Given the description of an element on the screen output the (x, y) to click on. 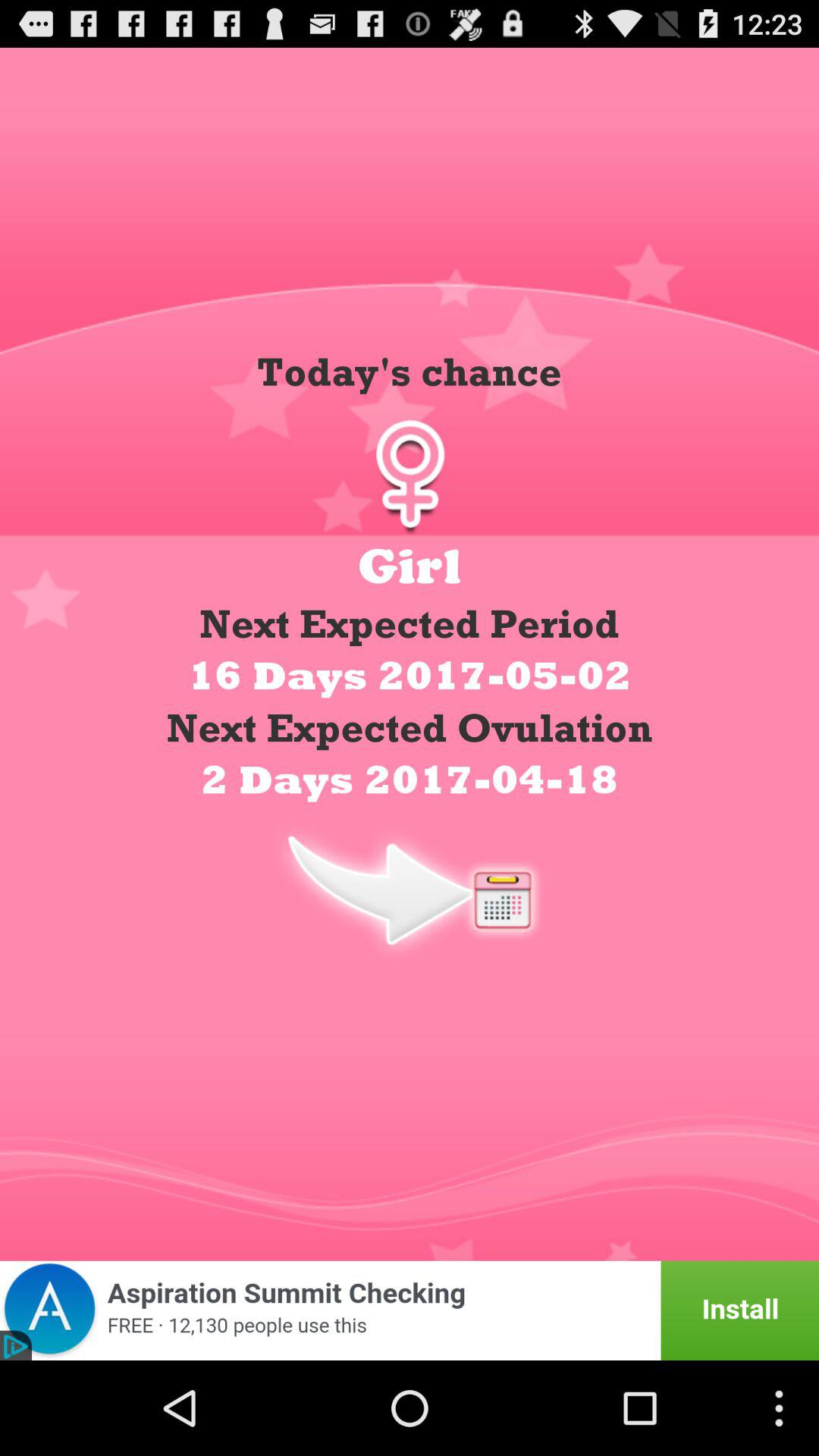
for advertisement (409, 1310)
